Given the description of an element on the screen output the (x, y) to click on. 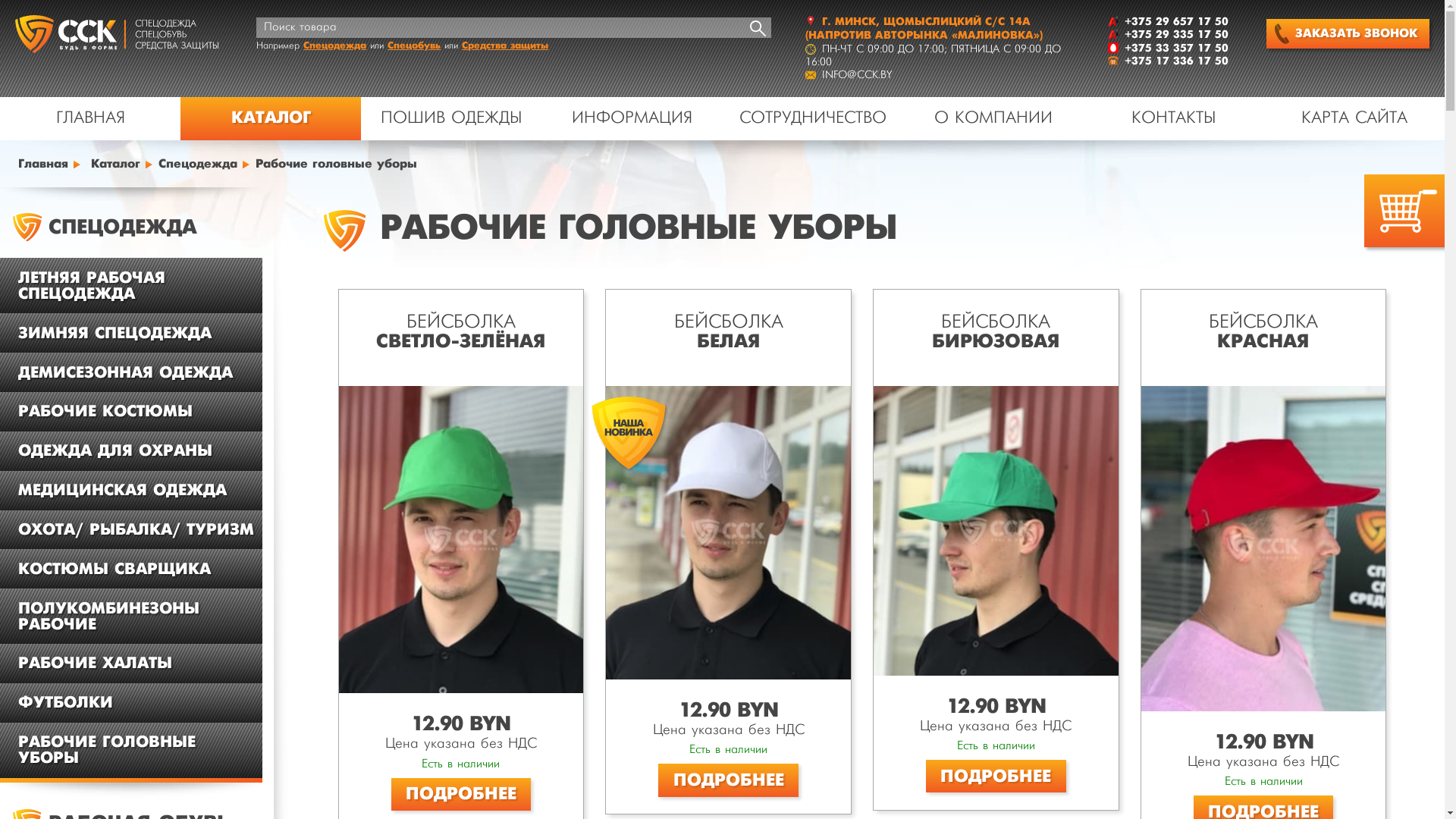
INFO@CCK.BY Element type: text (857, 74)
+375 29 657 17 50 Element type: text (1176, 21)
+375 17 336 17 50 Element type: text (1176, 60)
+375 29 335 17 50 Element type: text (1176, 34)
+375 33 357 17 50 Element type: text (1176, 47)
